Given the description of an element on the screen output the (x, y) to click on. 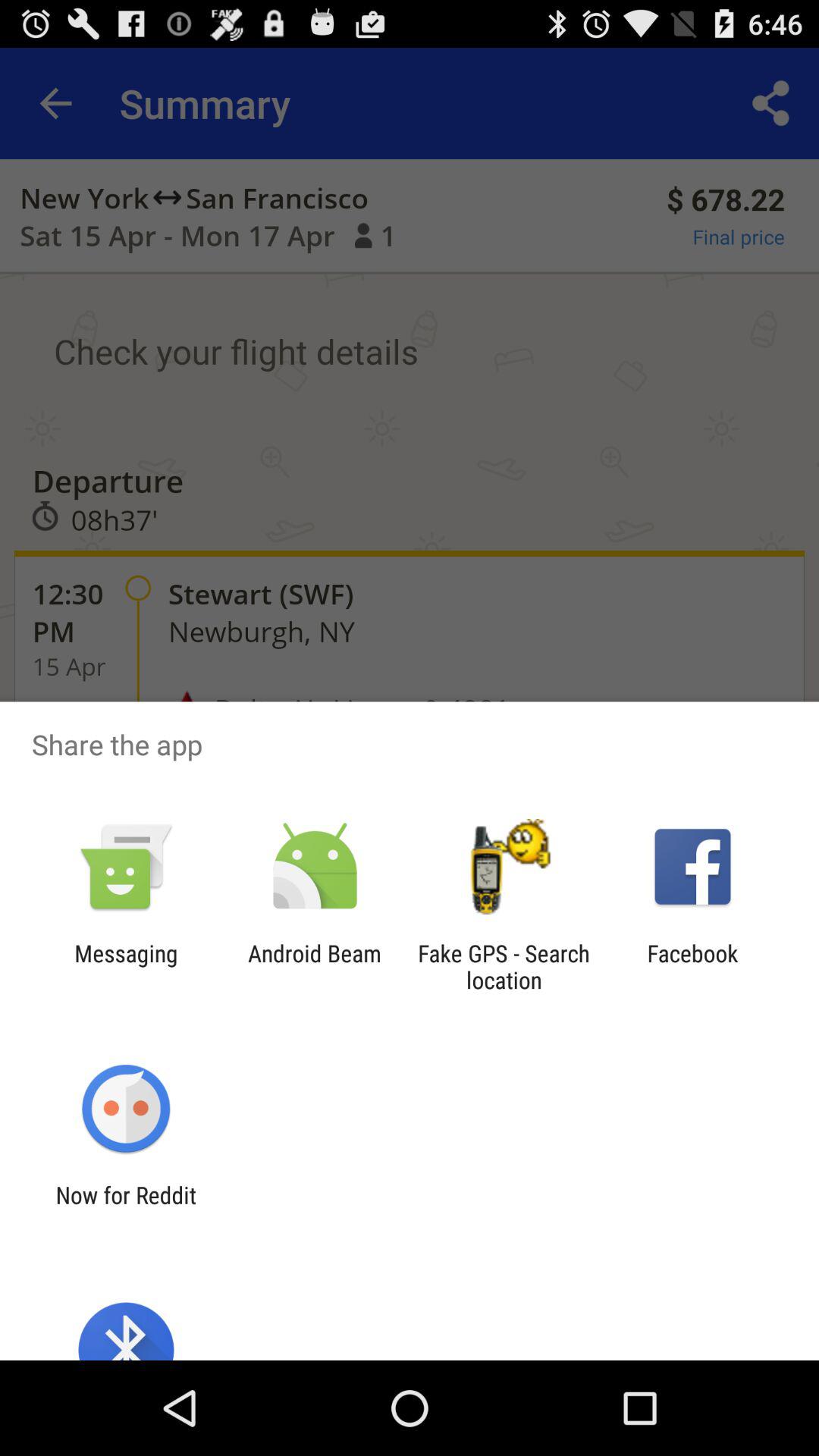
click item to the left of the facebook app (503, 966)
